Given the description of an element on the screen output the (x, y) to click on. 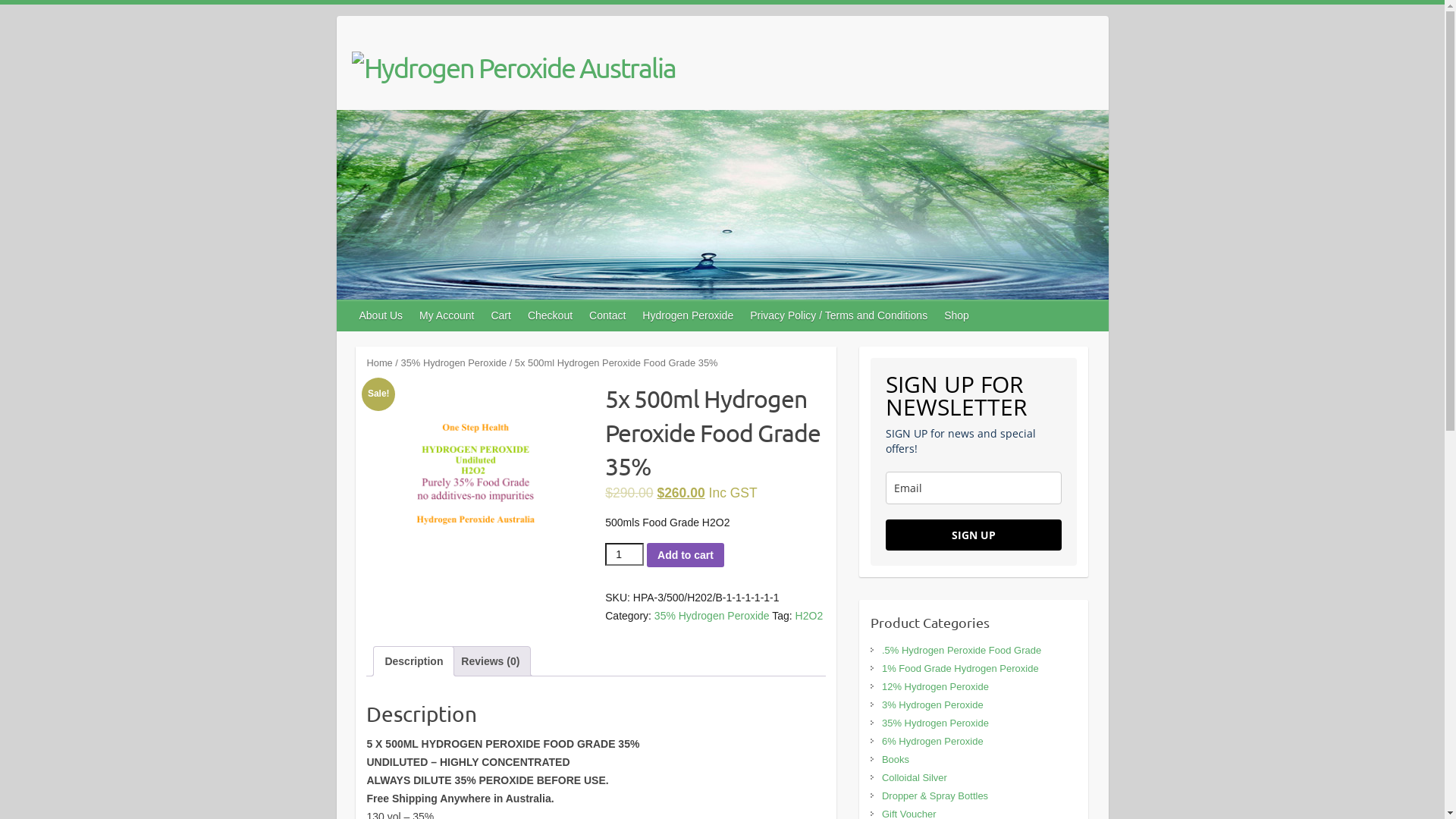
SIGN UP Element type: text (973, 534)
Books Element type: text (895, 759)
Privacy Policy / Terms and Conditions Element type: text (839, 315)
Hydrogen Peroxide Element type: text (688, 315)
Shop Element type: text (957, 315)
IMG_9411 Element type: hover (476, 474)
35% Hydrogen Peroxide Element type: text (711, 615)
Reviews (0) Element type: text (490, 660)
Add to cart Element type: text (685, 554)
12% Hydrogen Peroxide Element type: text (934, 686)
Contact Element type: text (607, 315)
3% Hydrogen Peroxide Element type: text (932, 704)
6% Hydrogen Peroxide Element type: text (932, 740)
35% Hydrogen Peroxide Element type: text (454, 362)
My Account Element type: text (447, 315)
1% Food Grade Hydrogen Peroxide Element type: text (959, 668)
.5% Hydrogen Peroxide Food Grade Element type: text (961, 649)
Hydrogen Peroxide Australia Element type: hover (513, 67)
35% Hydrogen Peroxide Element type: text (934, 722)
H2O2 Element type: text (809, 615)
Description Element type: text (413, 660)
Dropper & Spray Bottles Element type: text (934, 795)
Cart Element type: text (501, 315)
Checkout Element type: text (550, 315)
Colloidal Silver Element type: text (914, 777)
About Us Element type: text (381, 315)
Home Element type: text (379, 362)
